Given the description of an element on the screen output the (x, y) to click on. 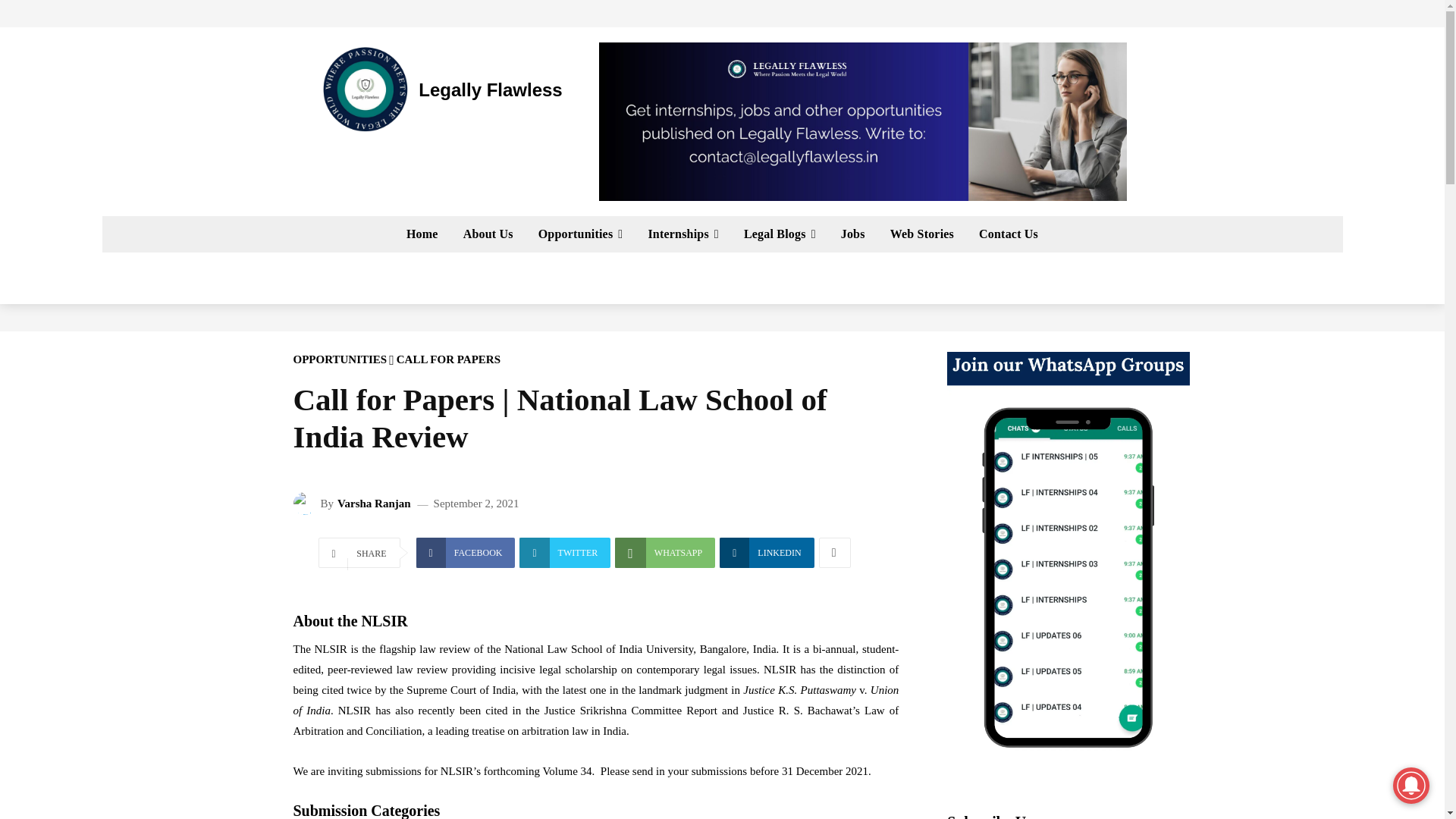
WhatsApp (664, 552)
Linkedin (766, 552)
More (834, 552)
Facebook (465, 552)
Legally Flawless (439, 89)
Varsha Ranjan (306, 503)
Twitter (564, 552)
About Us (488, 234)
Opportunities (580, 234)
Home (422, 234)
